Given the description of an element on the screen output the (x, y) to click on. 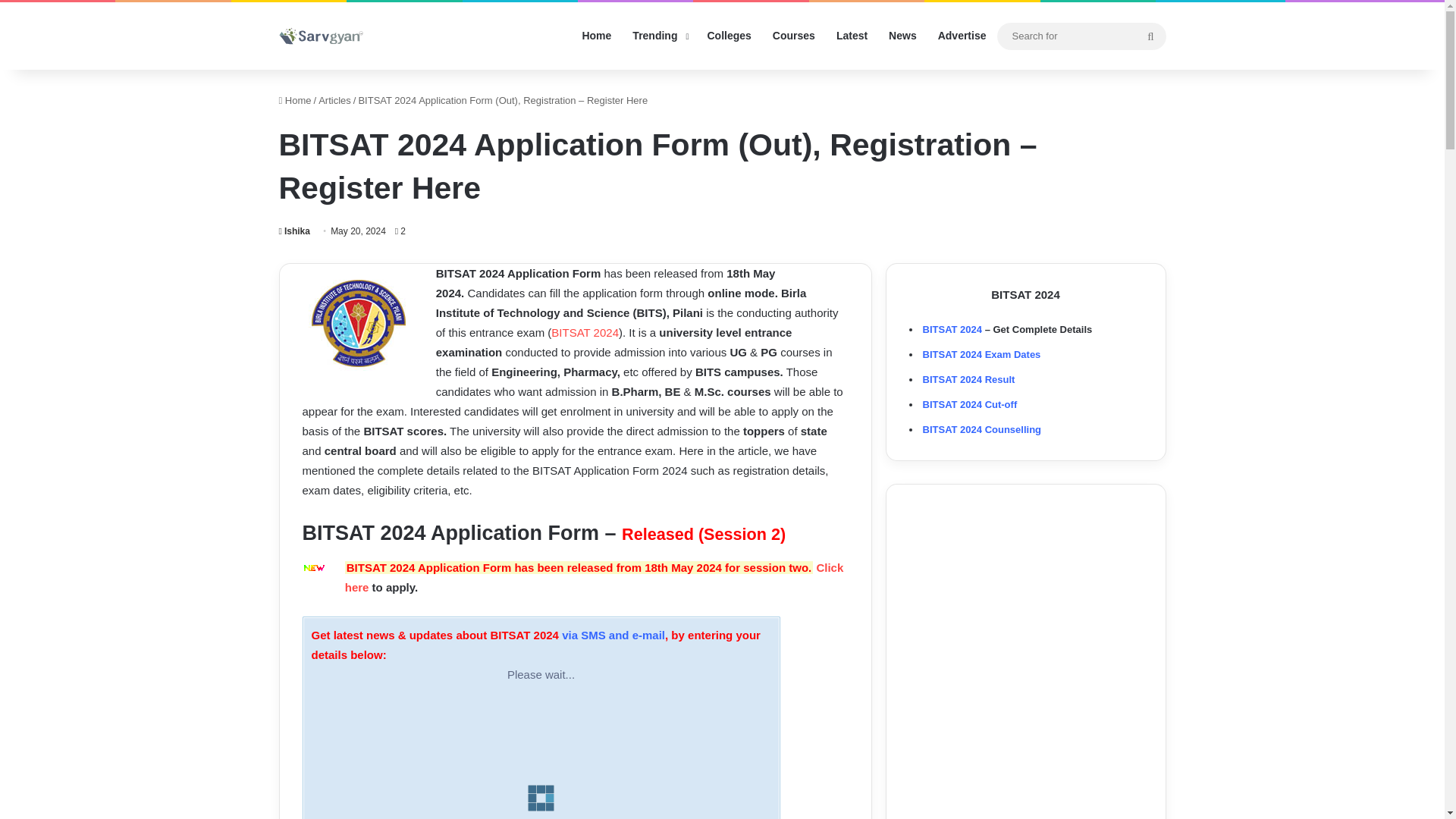
SarvGyan (321, 35)
Courses (793, 35)
Trending (658, 35)
Articles (334, 100)
Ishika (294, 231)
BITSAT 2024 (584, 332)
Search for (1150, 35)
Home (295, 100)
Click here (594, 577)
3rd party ad content (1022, 765)
